Given the description of an element on the screen output the (x, y) to click on. 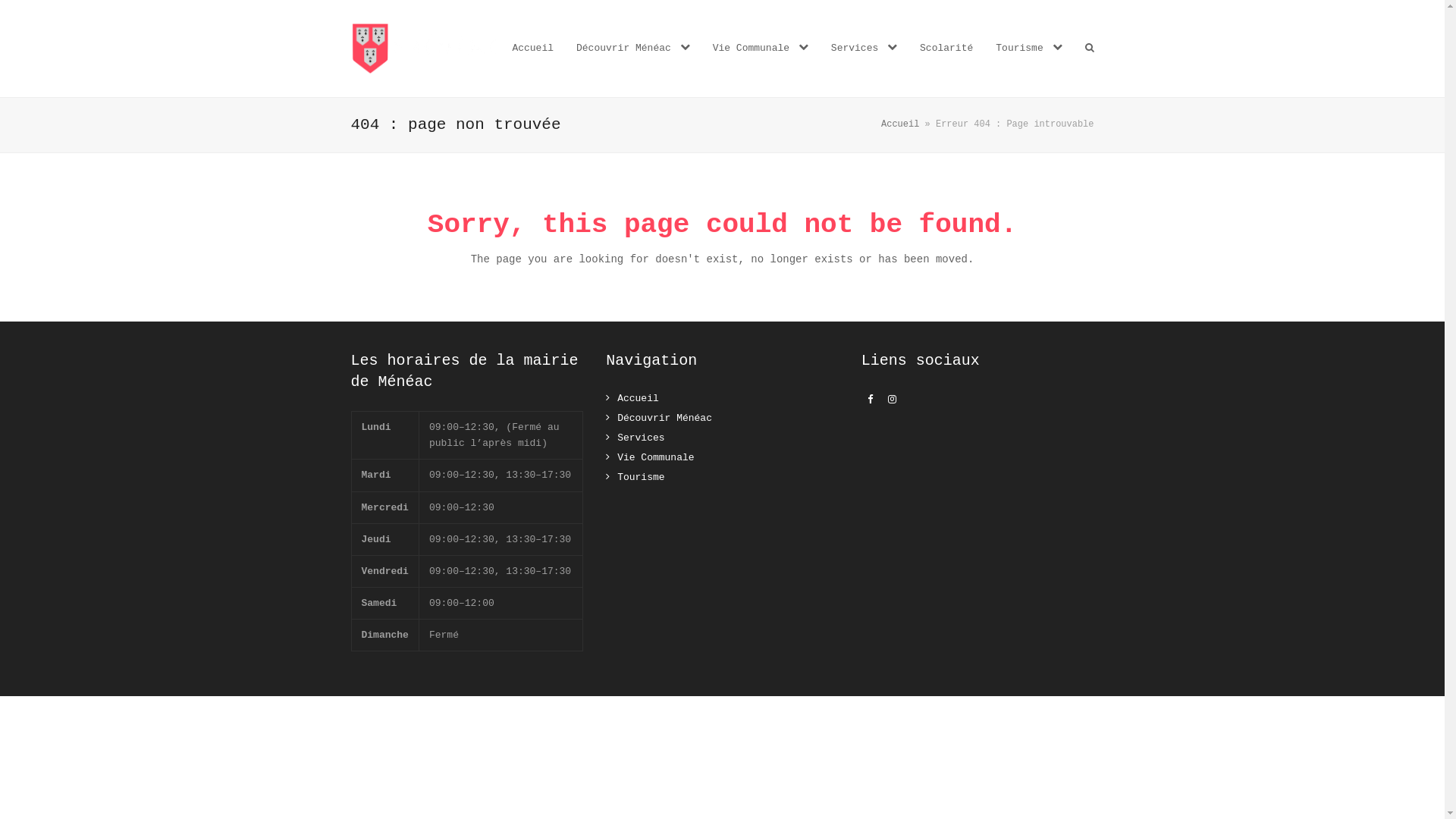
Tourisme Element type: text (634, 477)
Vie Communale Element type: text (649, 457)
Vie Communale Element type: text (760, 48)
Accueil Element type: text (631, 398)
Instagram Element type: text (892, 399)
Accueil Element type: text (532, 48)
Services Element type: text (634, 437)
Tourisme Element type: text (1028, 48)
Facebook Element type: text (870, 399)
Accueil Element type: text (900, 124)
Services Element type: text (863, 48)
